Given the description of an element on the screen output the (x, y) to click on. 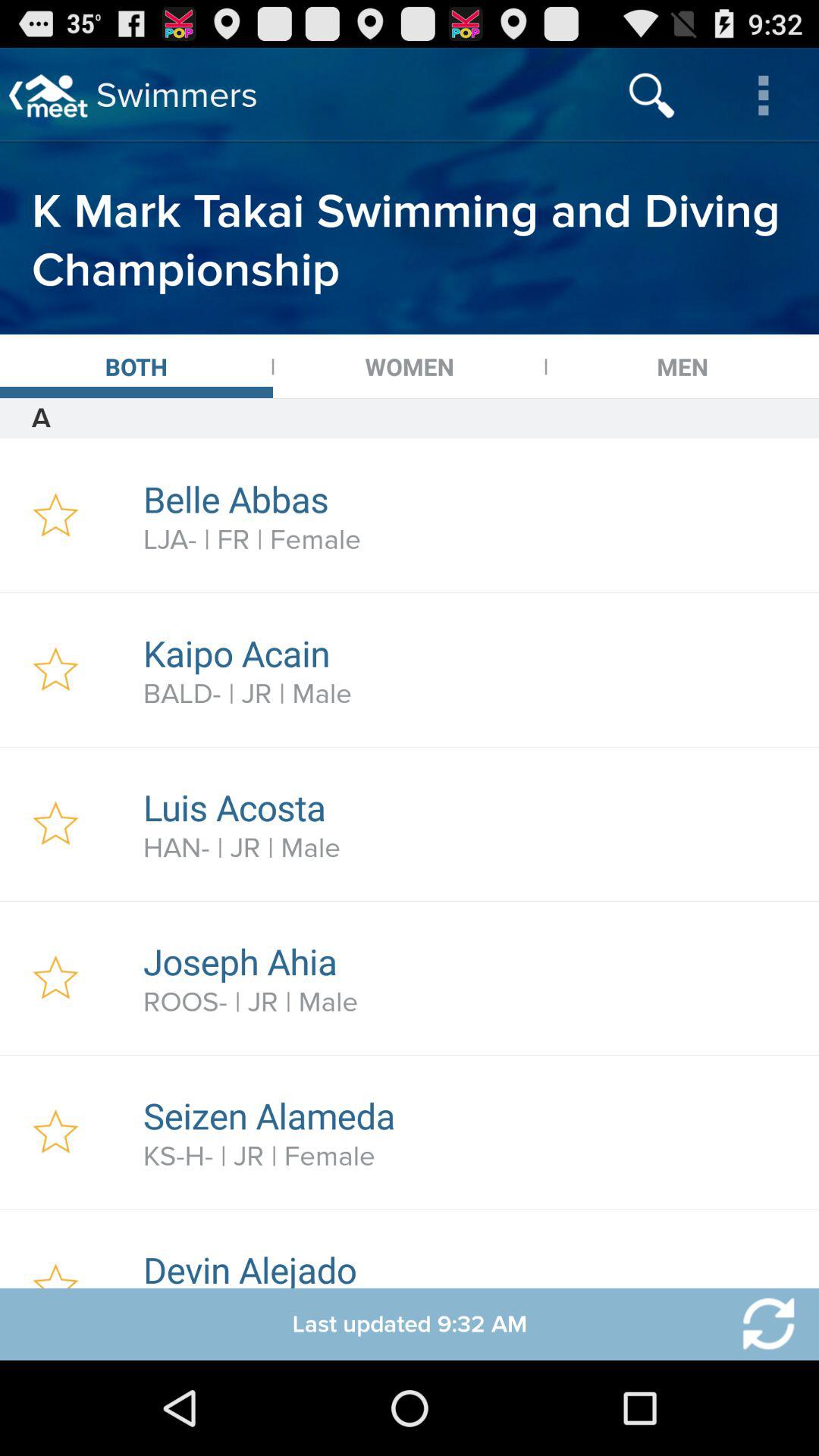
turn off item at the bottom right corner (759, 1324)
